Given the description of an element on the screen output the (x, y) to click on. 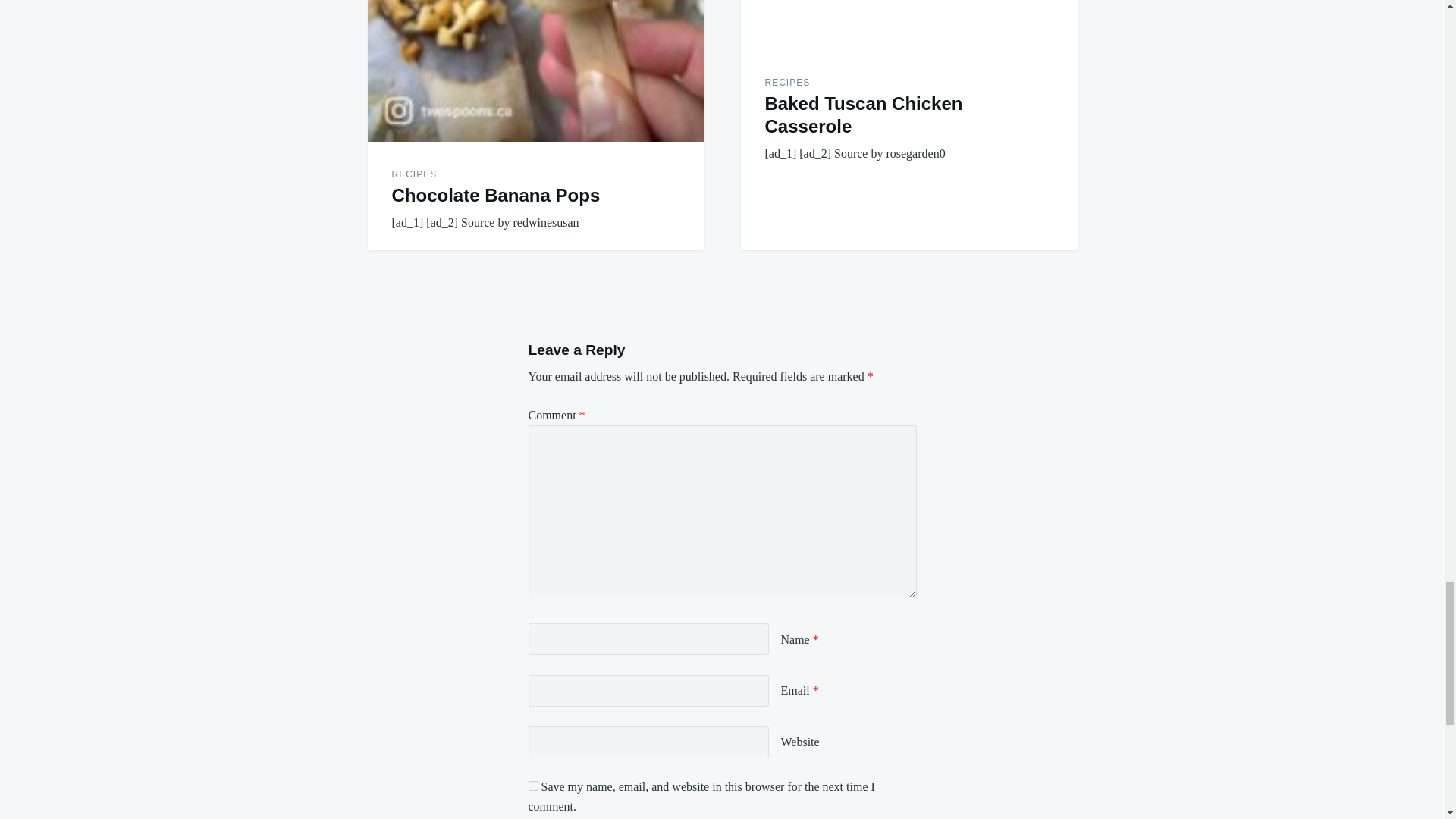
yes (532, 786)
Baked Tuscan Chicken Casserole (908, 24)
RECIPES (413, 173)
Chocolate Banana Pops (534, 70)
Baked Tuscan Chicken Casserole (863, 114)
Chocolate Banana Pops (495, 195)
RECIPES (786, 81)
